Given the description of an element on the screen output the (x, y) to click on. 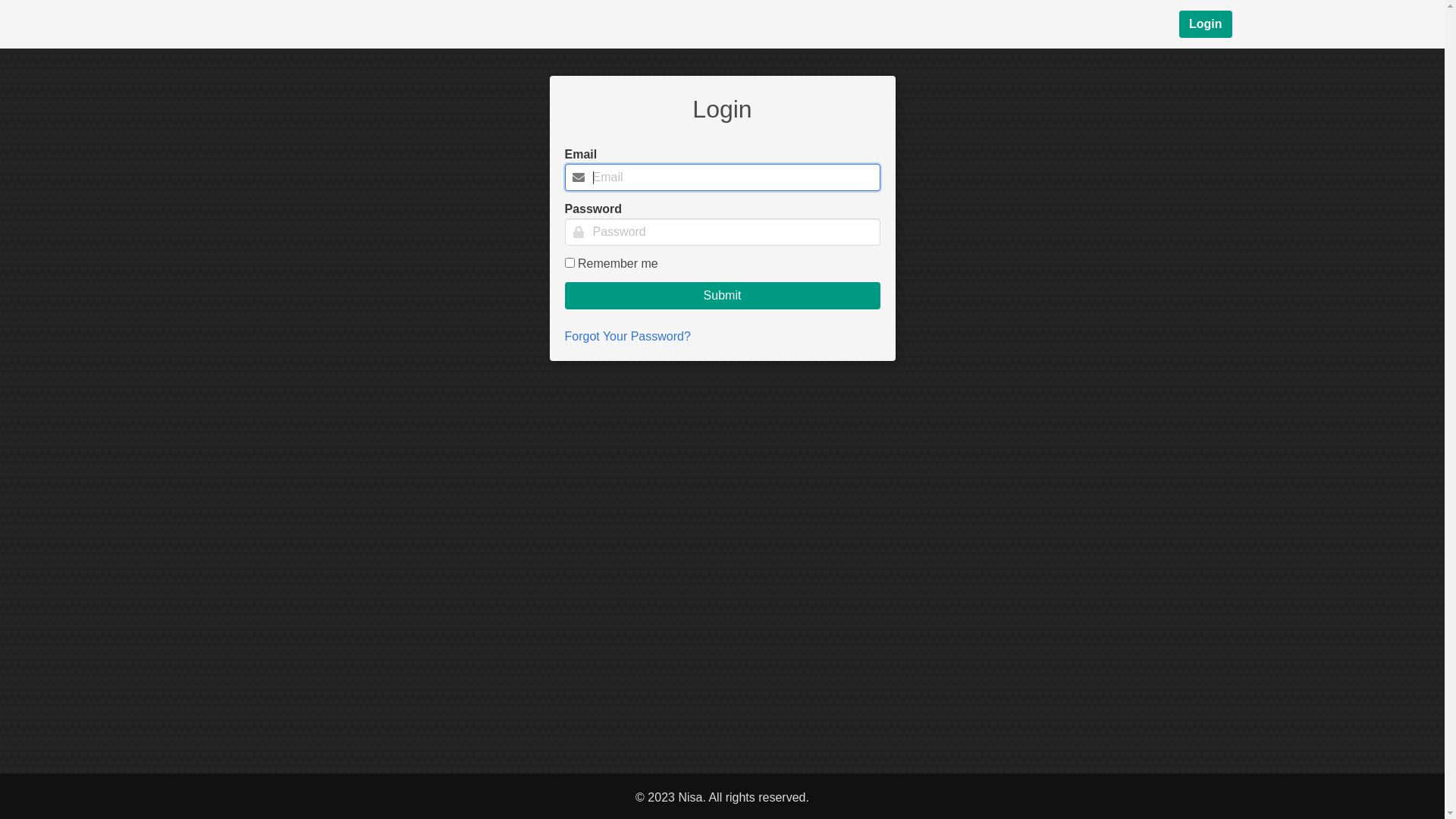
Forgot Your Password? Element type: text (627, 335)
Login Element type: text (1205, 23)
Submit Element type: text (721, 295)
